Given the description of an element on the screen output the (x, y) to click on. 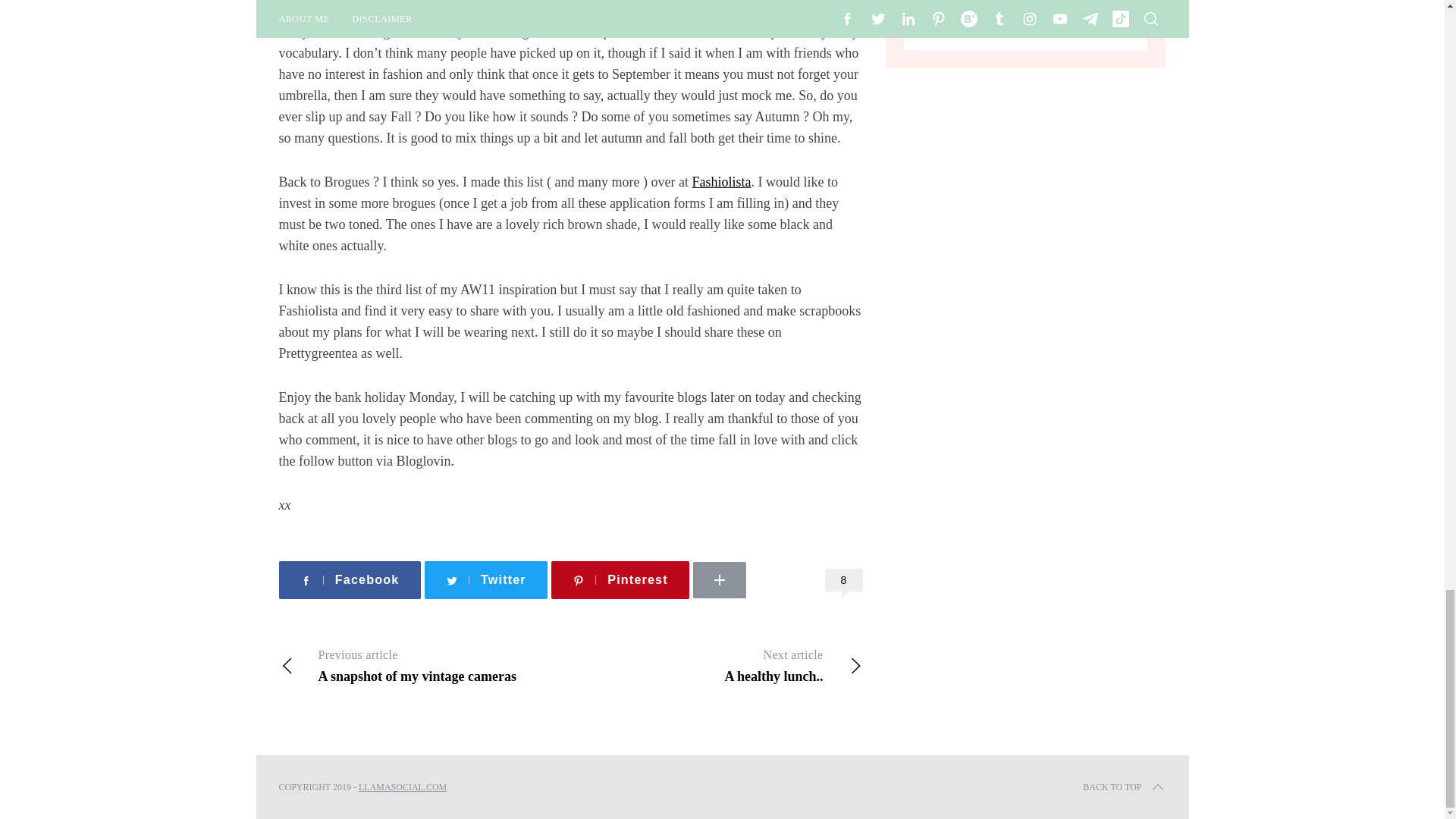
Twitter (486, 580)
8 (844, 579)
LINKEDIN (764, 555)
Facebook (715, 665)
Pinterest (349, 580)
Fashiolista (619, 580)
LLAMASOCIAL.COM (424, 665)
